Given the description of an element on the screen output the (x, y) to click on. 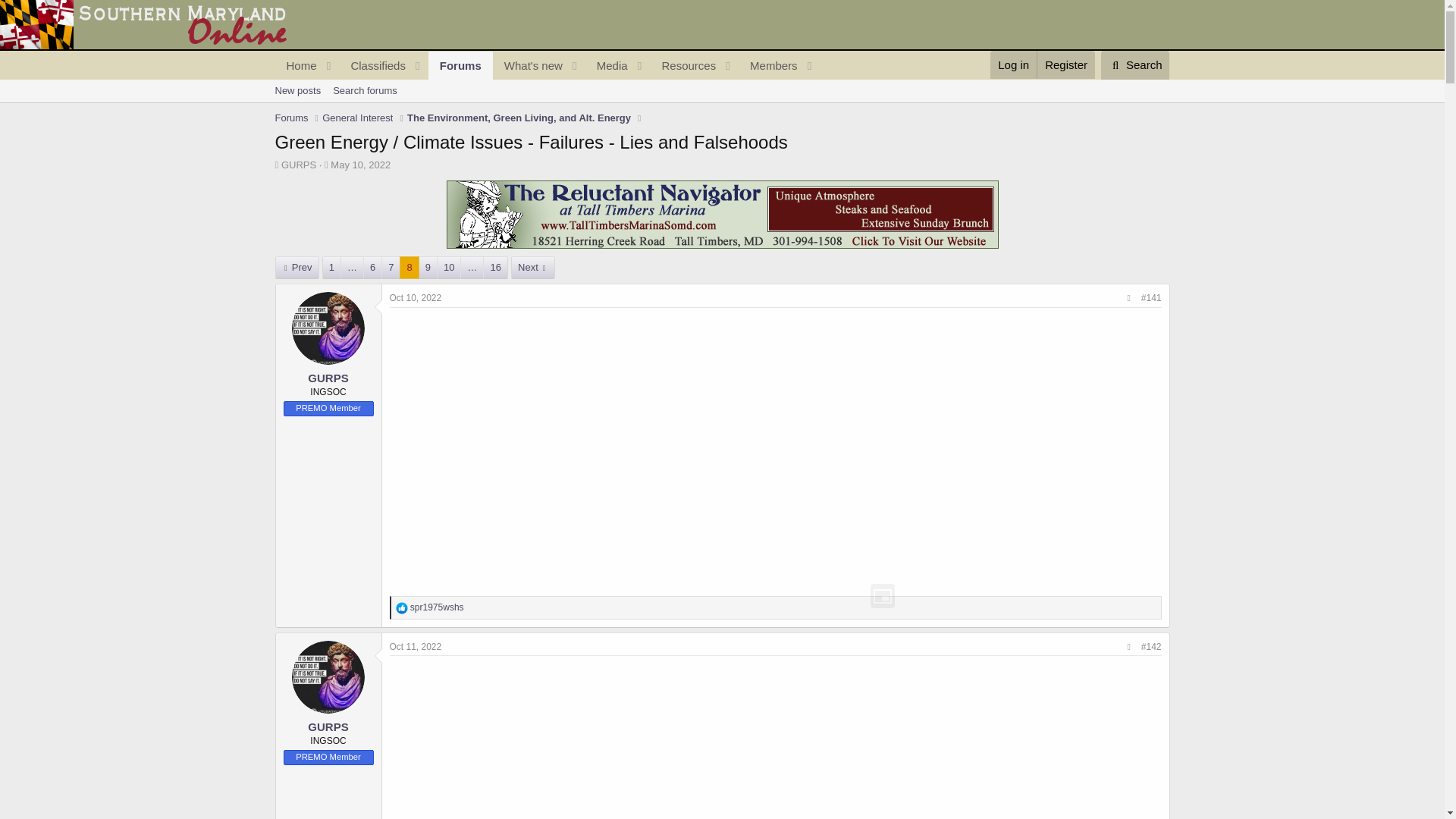
Oct 10, 2022 at 6:09 PM (416, 297)
Reluctant Navigator at Tall Timbers Marina (721, 214)
Forums (720, 107)
May 10, 2022 at 5:33 AM (460, 65)
Classifieds (546, 82)
What's new (360, 164)
Search (372, 65)
Like (528, 65)
Home (1135, 64)
Oct 11, 2022 at 5:13 AM (401, 607)
